Given the description of an element on the screen output the (x, y) to click on. 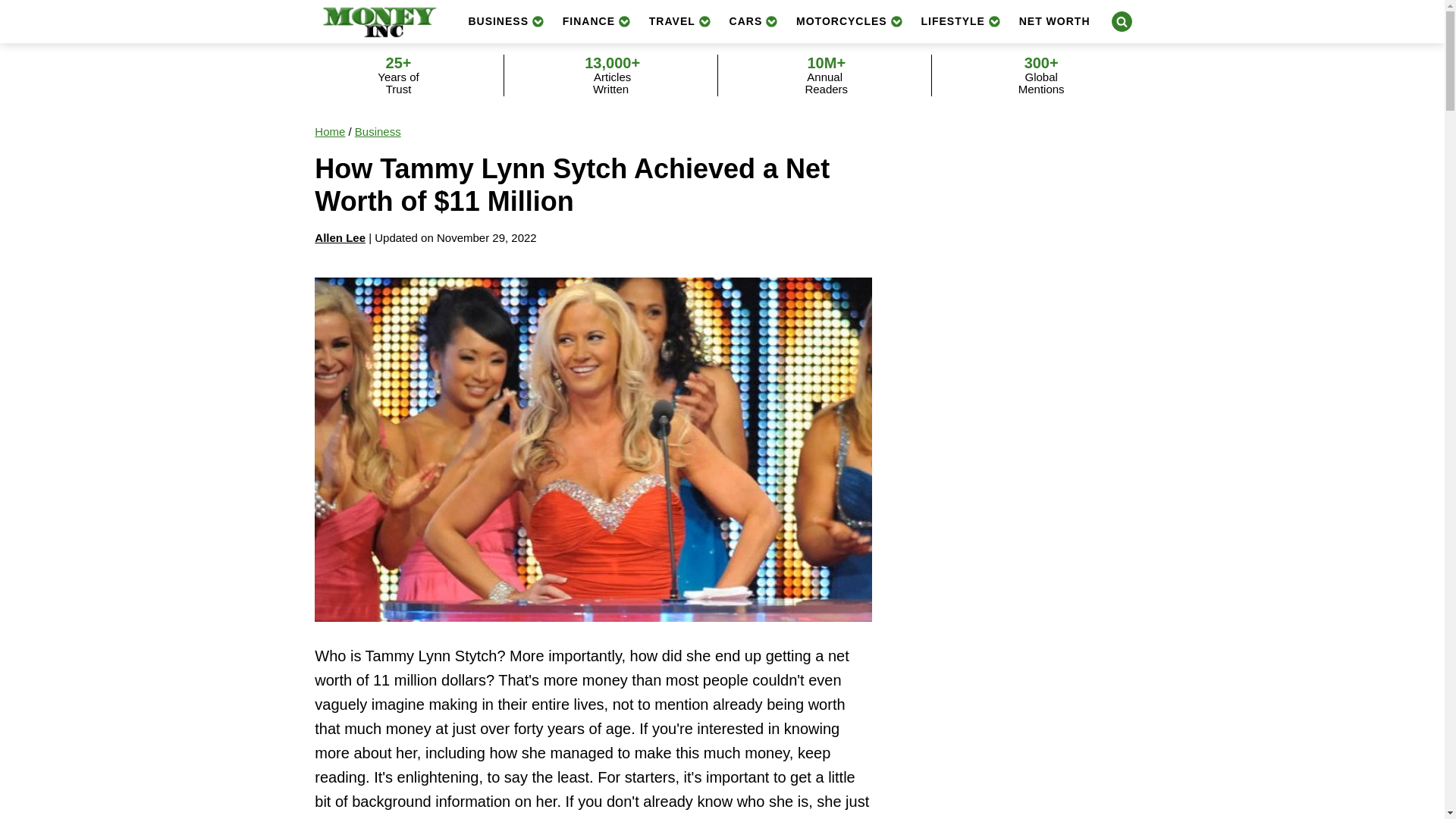
BUSINESS (505, 21)
FINANCE (596, 21)
TRAVEL (680, 21)
CARS (753, 21)
